Given the description of an element on the screen output the (x, y) to click on. 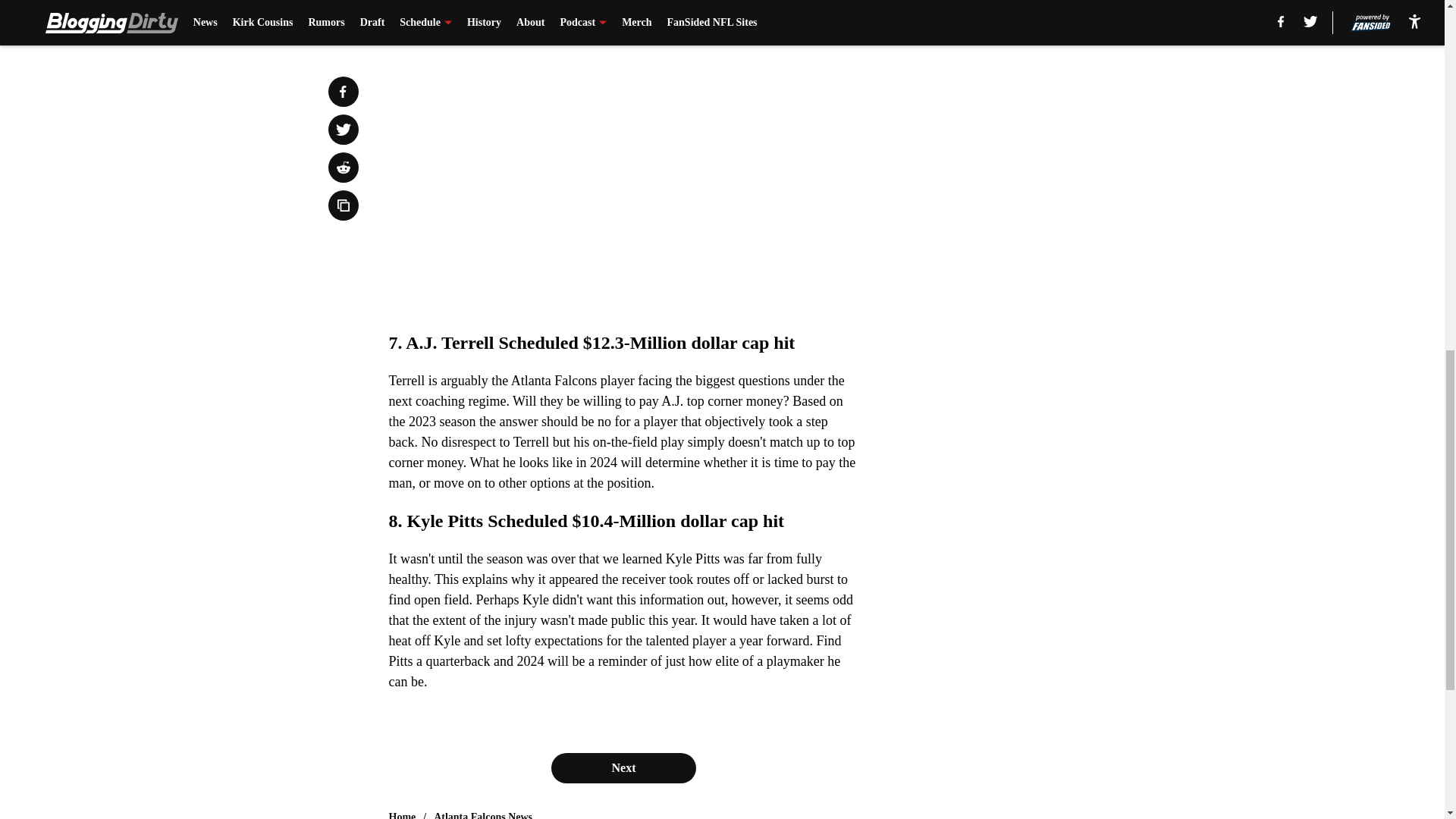
Atlanta Falcons News (482, 814)
Next (622, 767)
Home (401, 814)
Prev (433, 20)
Next (813, 20)
